Given the description of an element on the screen output the (x, y) to click on. 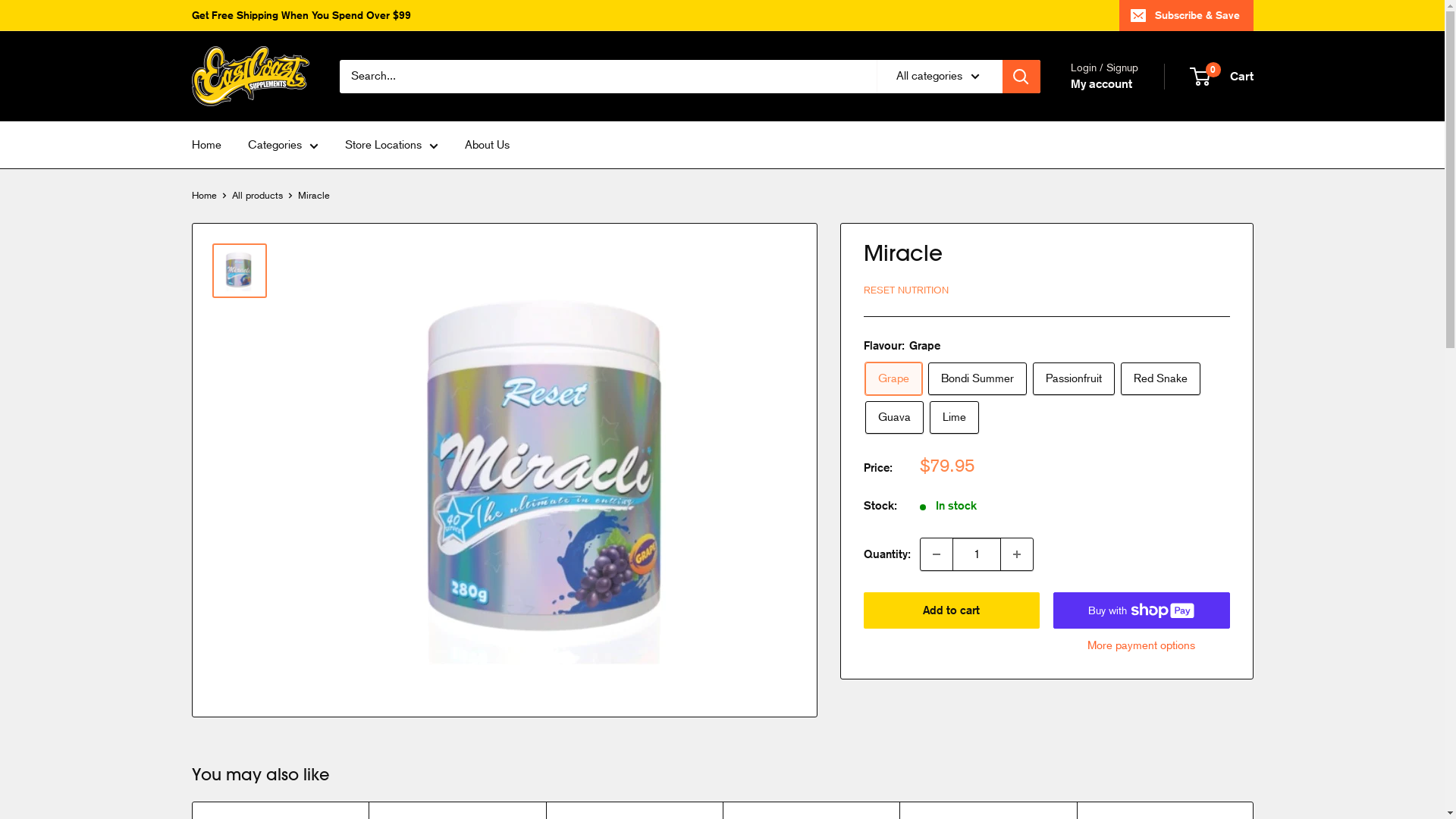
RESET NUTRITION Element type: text (904, 289)
East Coast Supplements Element type: text (249, 76)
0
Cart Element type: text (1221, 76)
Home Element type: text (205, 144)
Decrease quantity by 1 Element type: hover (936, 554)
Store Locations Element type: text (390, 144)
Add to cart Element type: text (950, 610)
Increase quantity by 1 Element type: hover (1016, 554)
More payment options Element type: text (1141, 644)
About Us Element type: text (486, 144)
Get Free Shipping When You Spend Over $99 Element type: text (300, 15)
Home Element type: text (203, 194)
Subscribe & Save Element type: text (1186, 15)
My account Element type: text (1101, 83)
All products Element type: text (257, 194)
Categories Element type: text (282, 144)
